Given the description of an element on the screen output the (x, y) to click on. 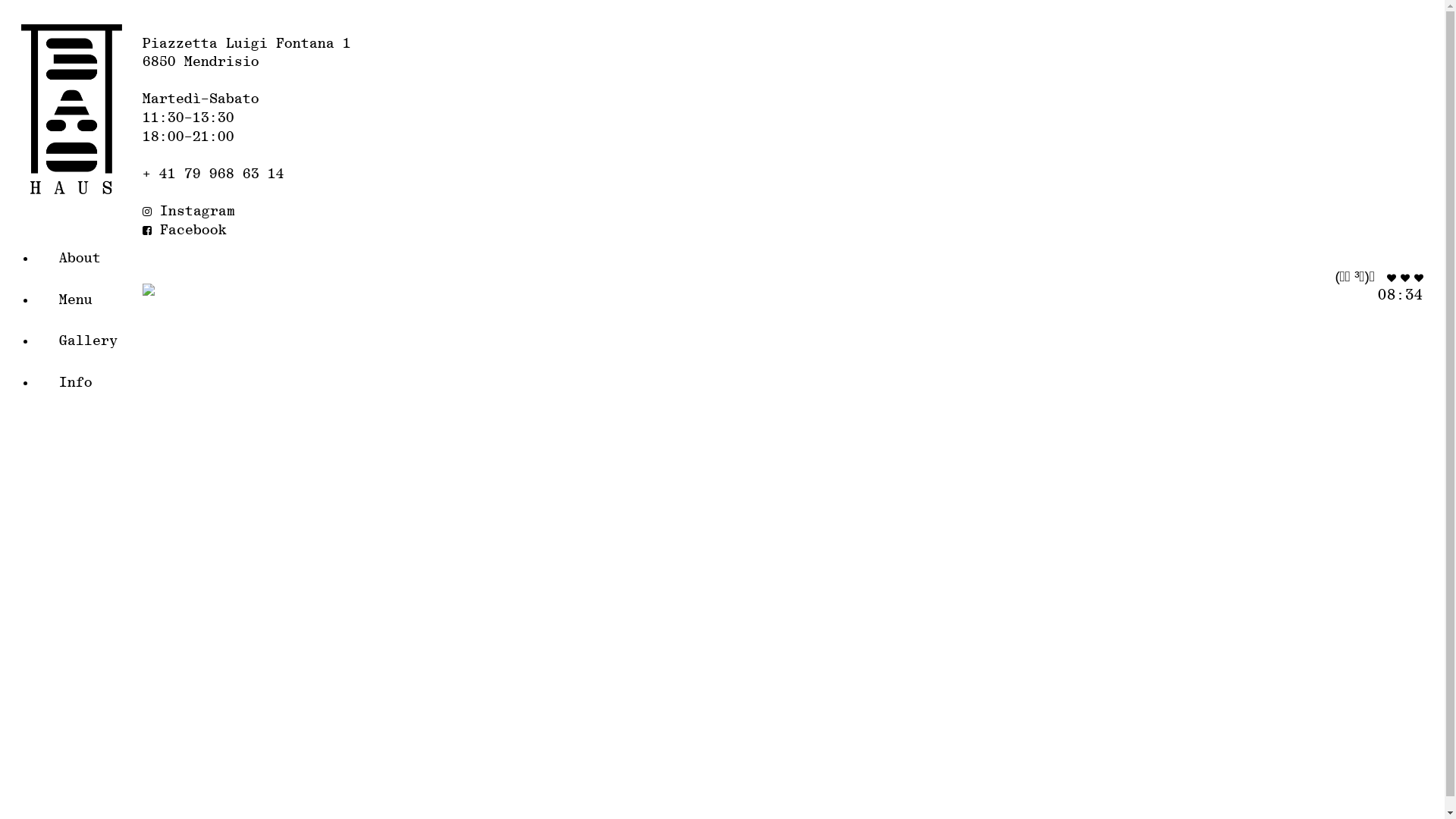
About Element type: text (94, 258)
+ 41 79 968 63 14 Element type: text (213, 173)
Info Element type: text (94, 383)
Gallery Element type: text (94, 341)
Piazzetta Luigi Fontana 1
6850 Mendrisio Element type: text (246, 52)
Menu Element type: text (94, 300)
